Given the description of an element on the screen output the (x, y) to click on. 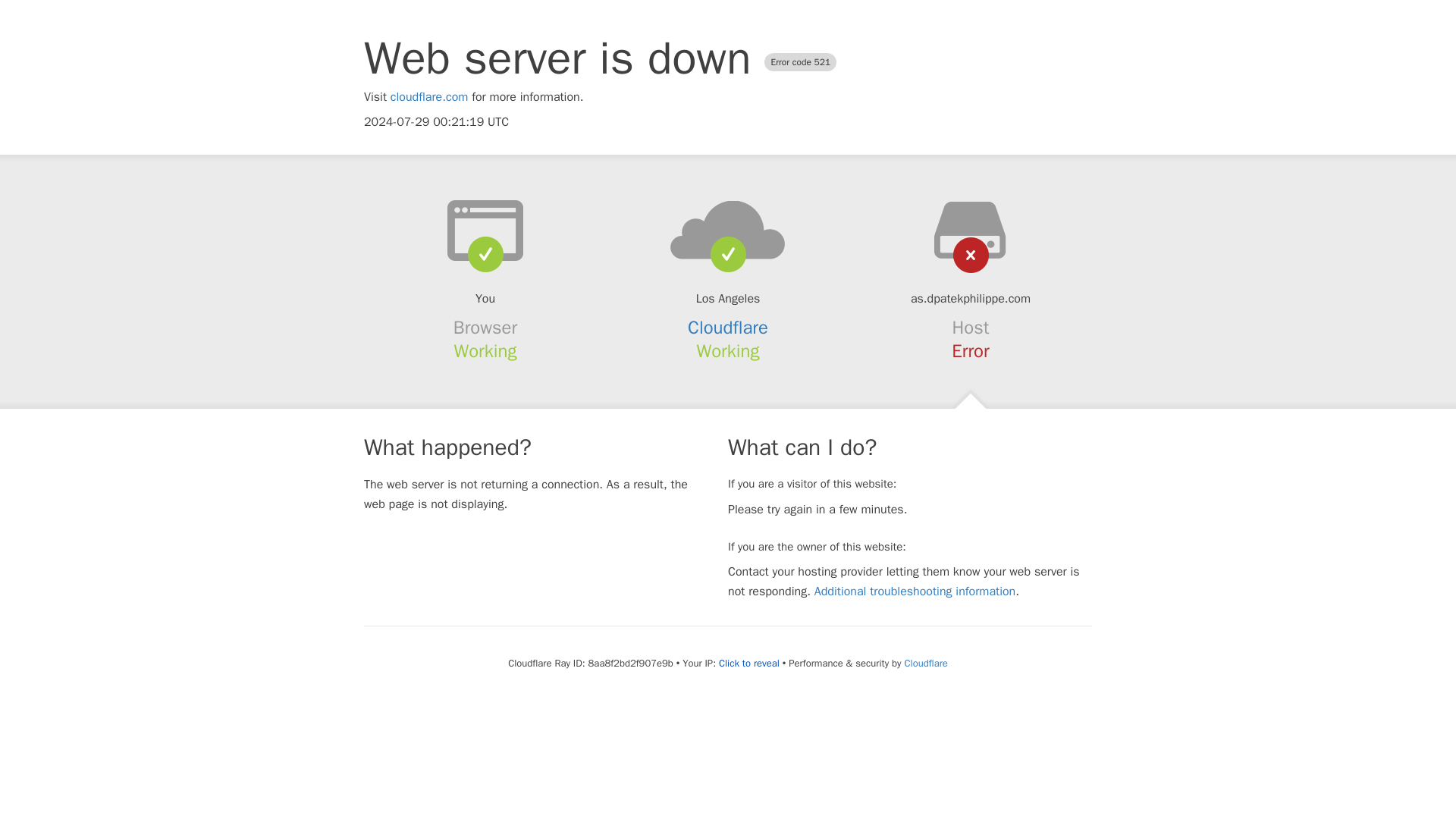
Click to reveal (748, 663)
cloudflare.com (429, 96)
Additional troubleshooting information (913, 590)
Cloudflare (727, 327)
Cloudflare (925, 662)
